Given the description of an element on the screen output the (x, y) to click on. 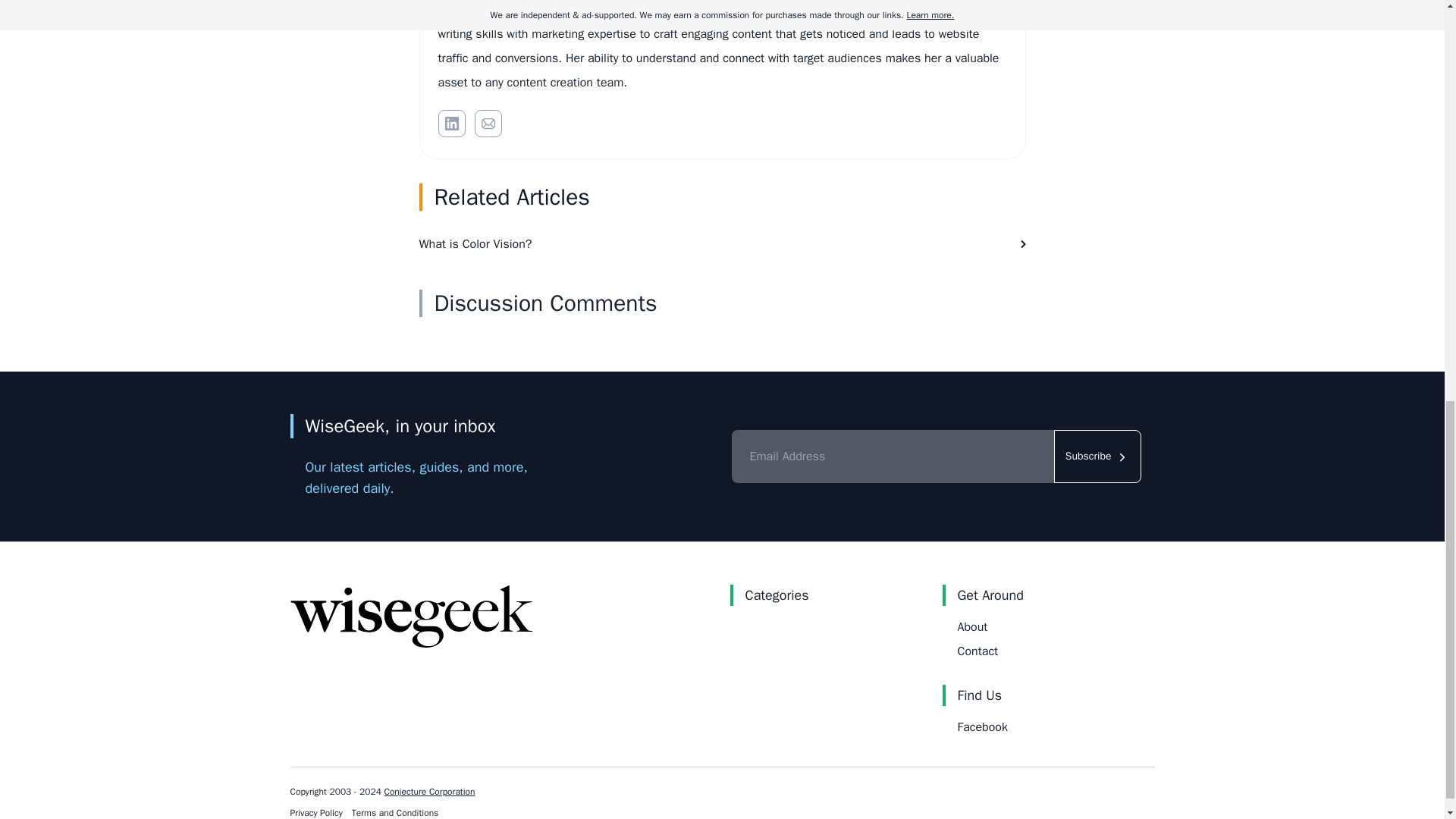
Facebook (981, 726)
About (971, 626)
Subscribe (1097, 456)
What is Color Vision? (722, 243)
Conjecture Corporation (429, 791)
Contact (976, 651)
